Given the description of an element on the screen output the (x, y) to click on. 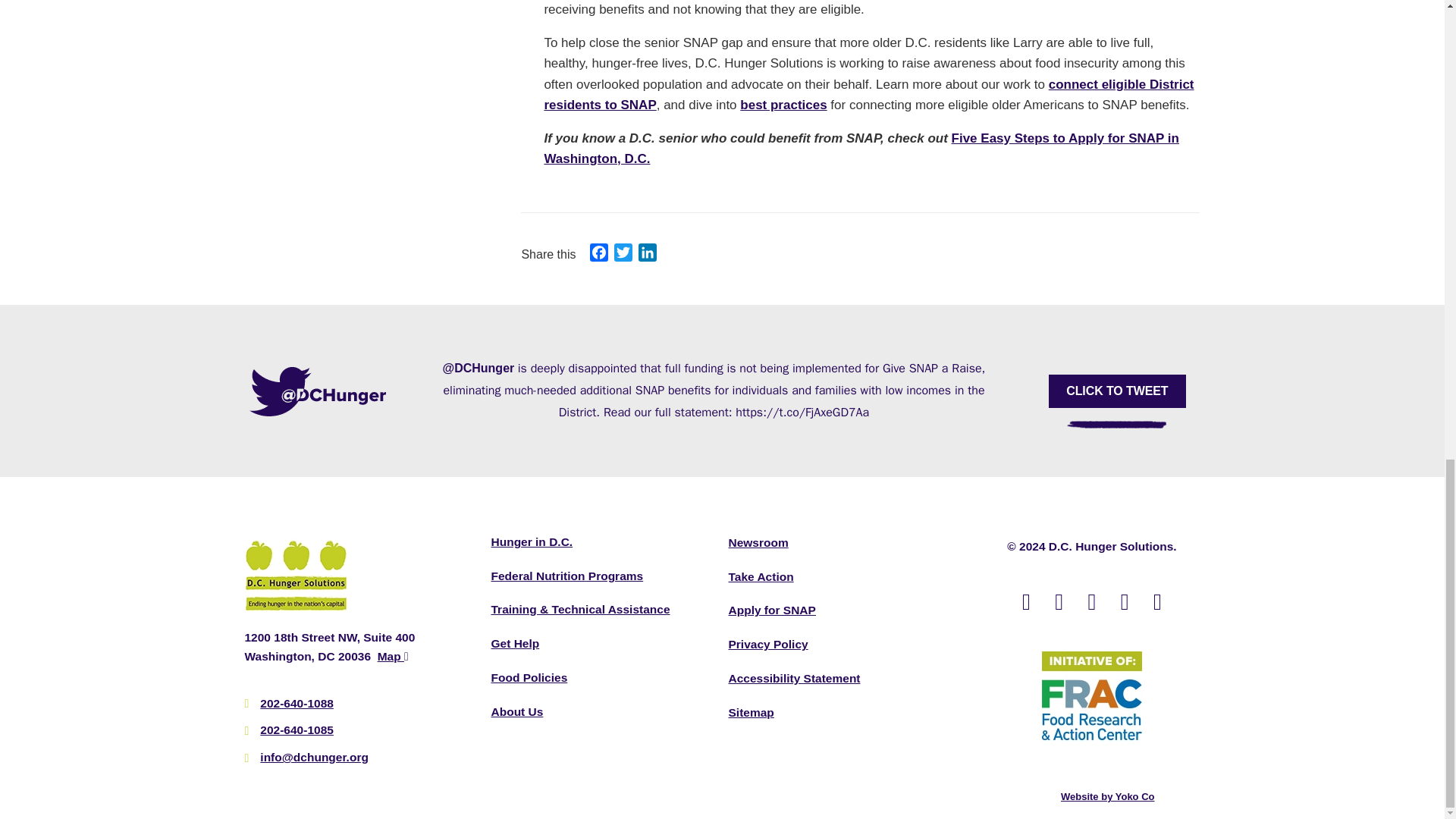
Twitter-DCHunger (318, 390)
LinkedIn (646, 254)
Twitter (622, 254)
Facebook (598, 254)
